Given the description of an element on the screen output the (x, y) to click on. 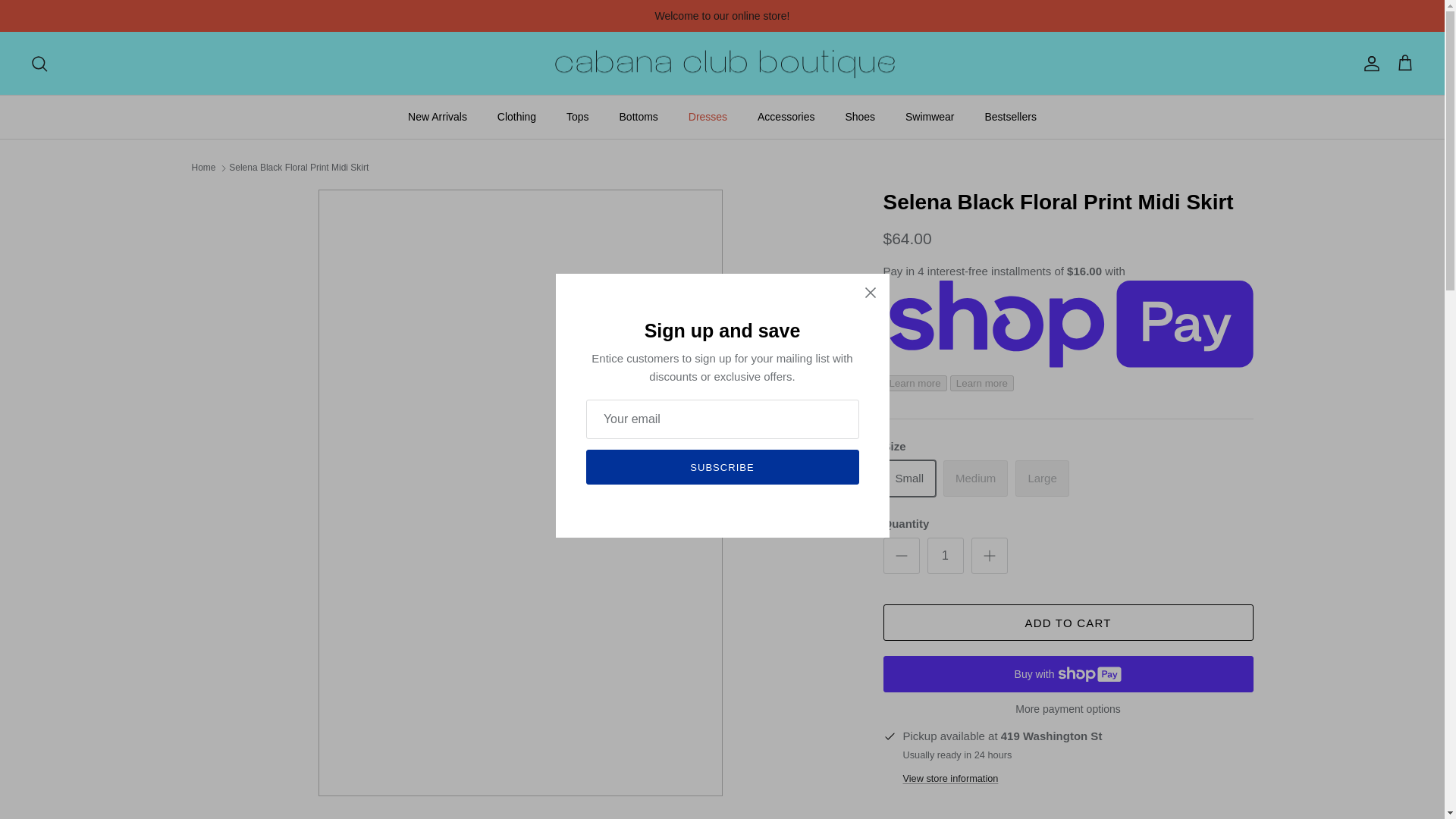
1 (944, 555)
Account (1368, 63)
Clothing (516, 116)
Cart (1404, 63)
Cabana Club Boutique (721, 63)
Minus (900, 556)
New Arrivals (437, 116)
Tops (577, 116)
Plus (988, 556)
Search (39, 63)
